Given the description of an element on the screen output the (x, y) to click on. 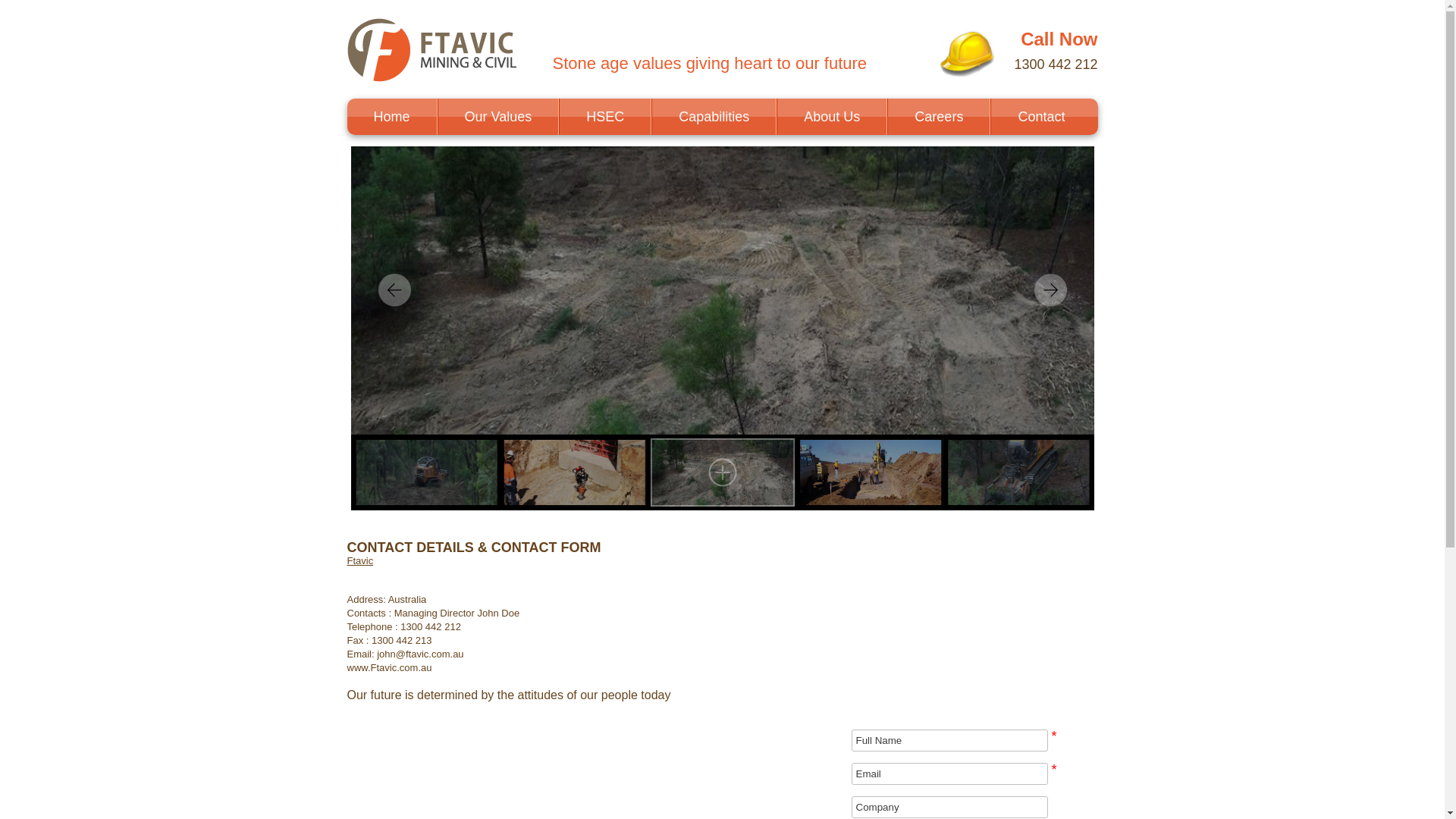
About Us Element type: text (831, 116)
Careers Element type: text (938, 116)
Email Element type: text (948, 773)
Full Name Element type: text (948, 740)
Contact Element type: text (1041, 116)
Ftavic Element type: text (360, 560)
Home Element type: text (391, 116)
Our Values Element type: text (498, 116)
HSEC Element type: text (604, 116)
Company Element type: text (948, 807)
Capabilities Element type: text (713, 116)
